Given the description of an element on the screen output the (x, y) to click on. 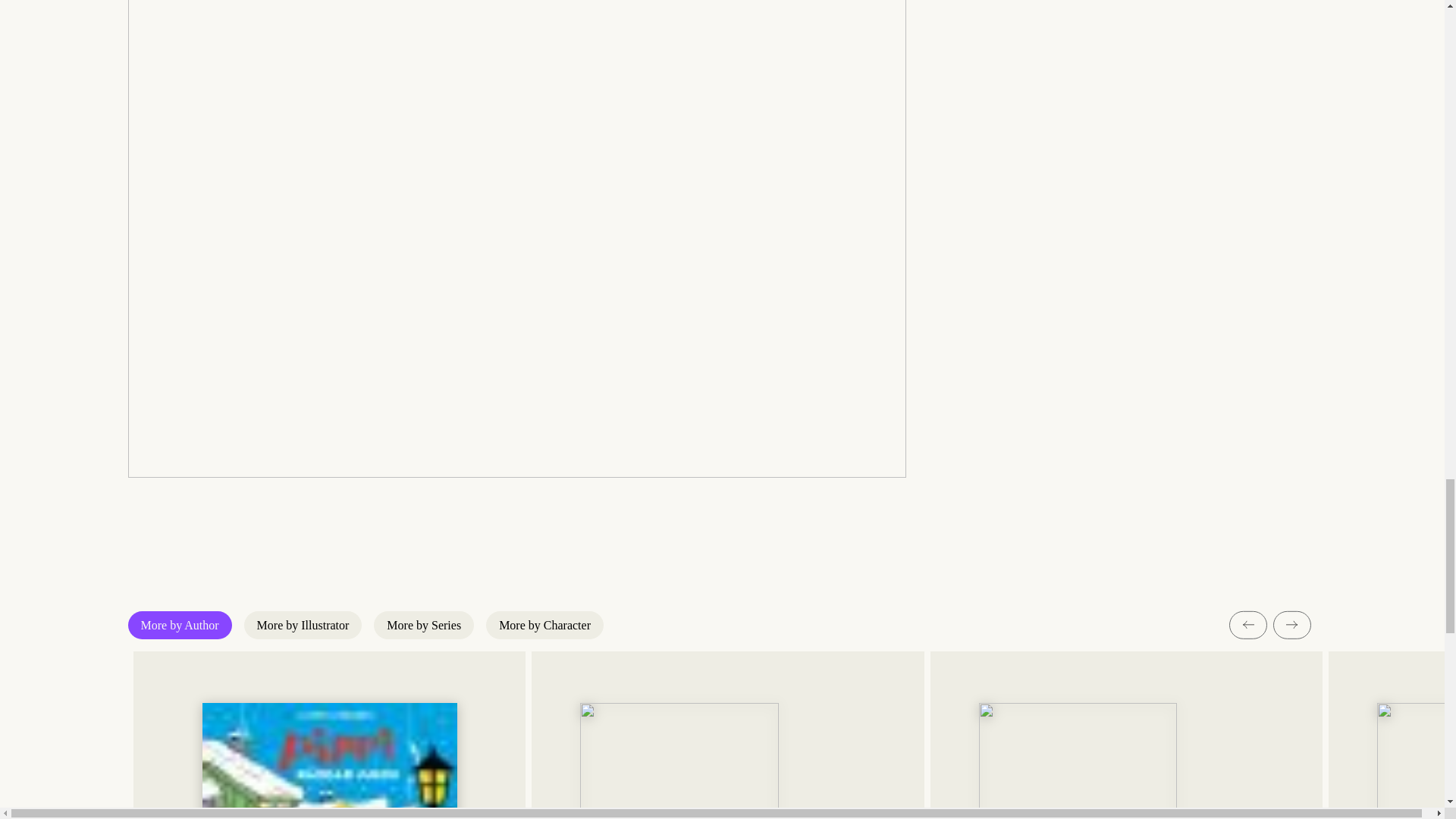
Pippi Saves Christmas (329, 735)
Brenda Brave Helps Grandmother (727, 735)
